Given the description of an element on the screen output the (x, y) to click on. 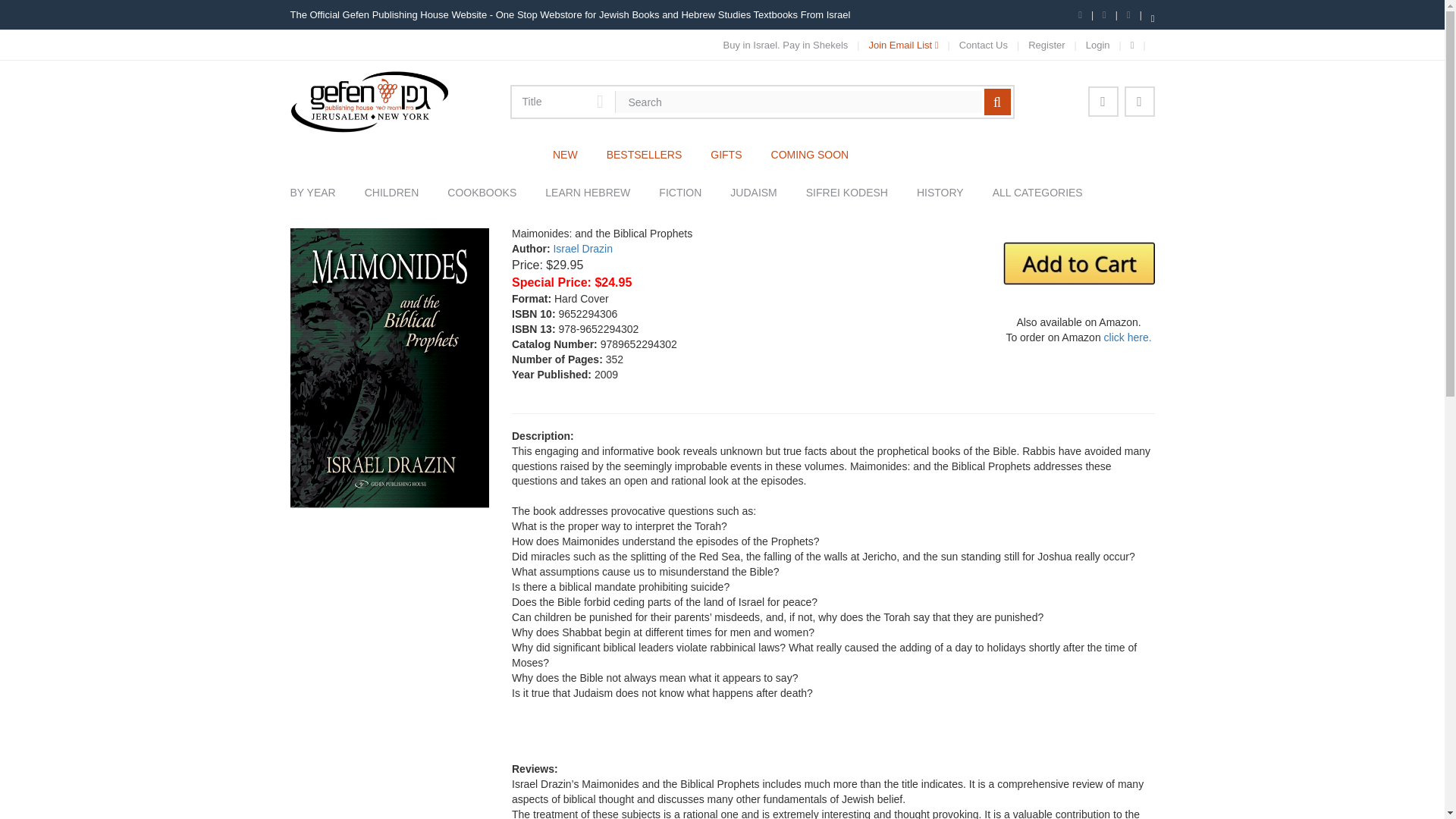
Register (1045, 45)
Buy in Israel. Pay in Shekels (785, 45)
Contact Us (983, 45)
Title (562, 101)
Join Email List (902, 45)
Login (1097, 45)
